Given the description of an element on the screen output the (x, y) to click on. 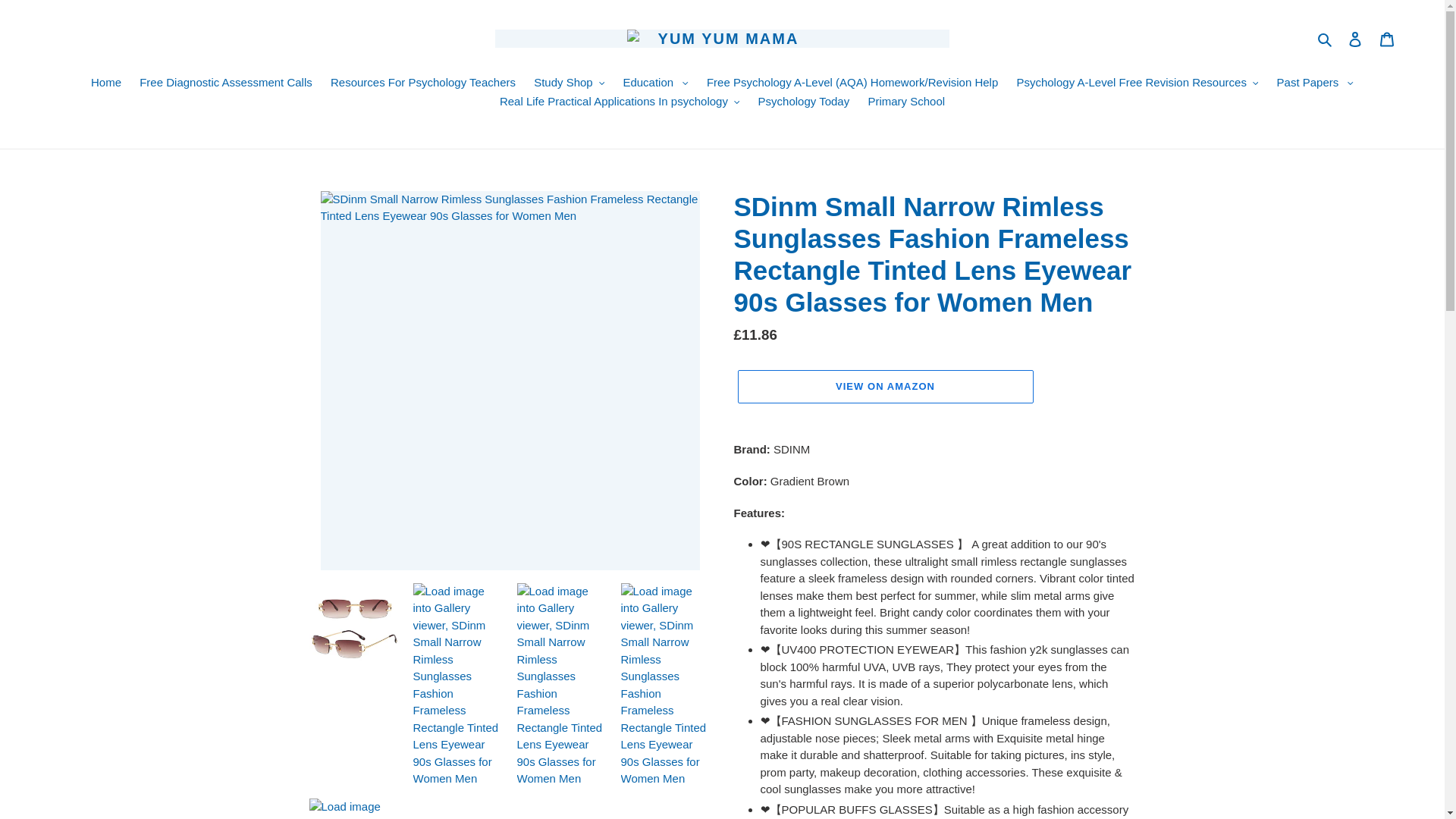
Cart (1387, 38)
Log in (1355, 38)
Search (1326, 38)
